Given the description of an element on the screen output the (x, y) to click on. 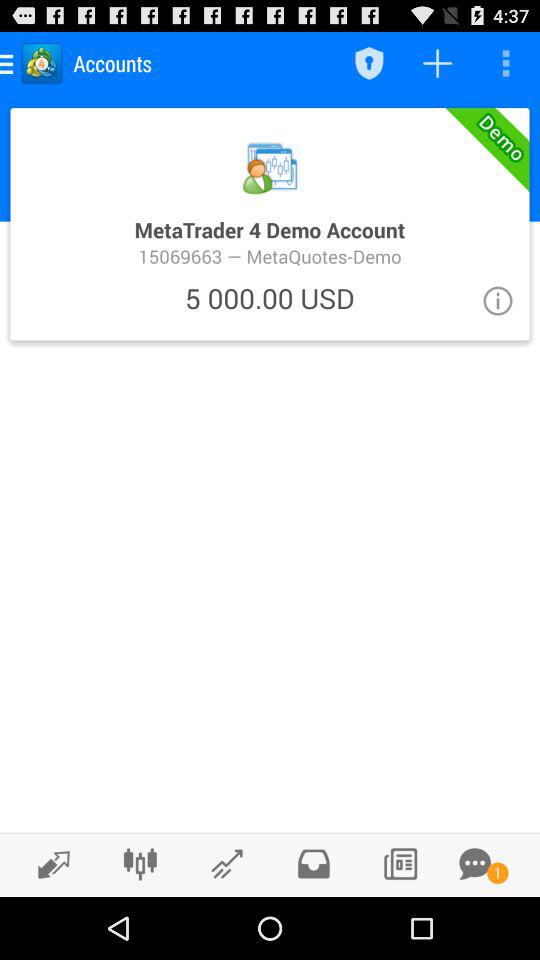
open the metatrade screen (269, 223)
